Given the description of an element on the screen output the (x, y) to click on. 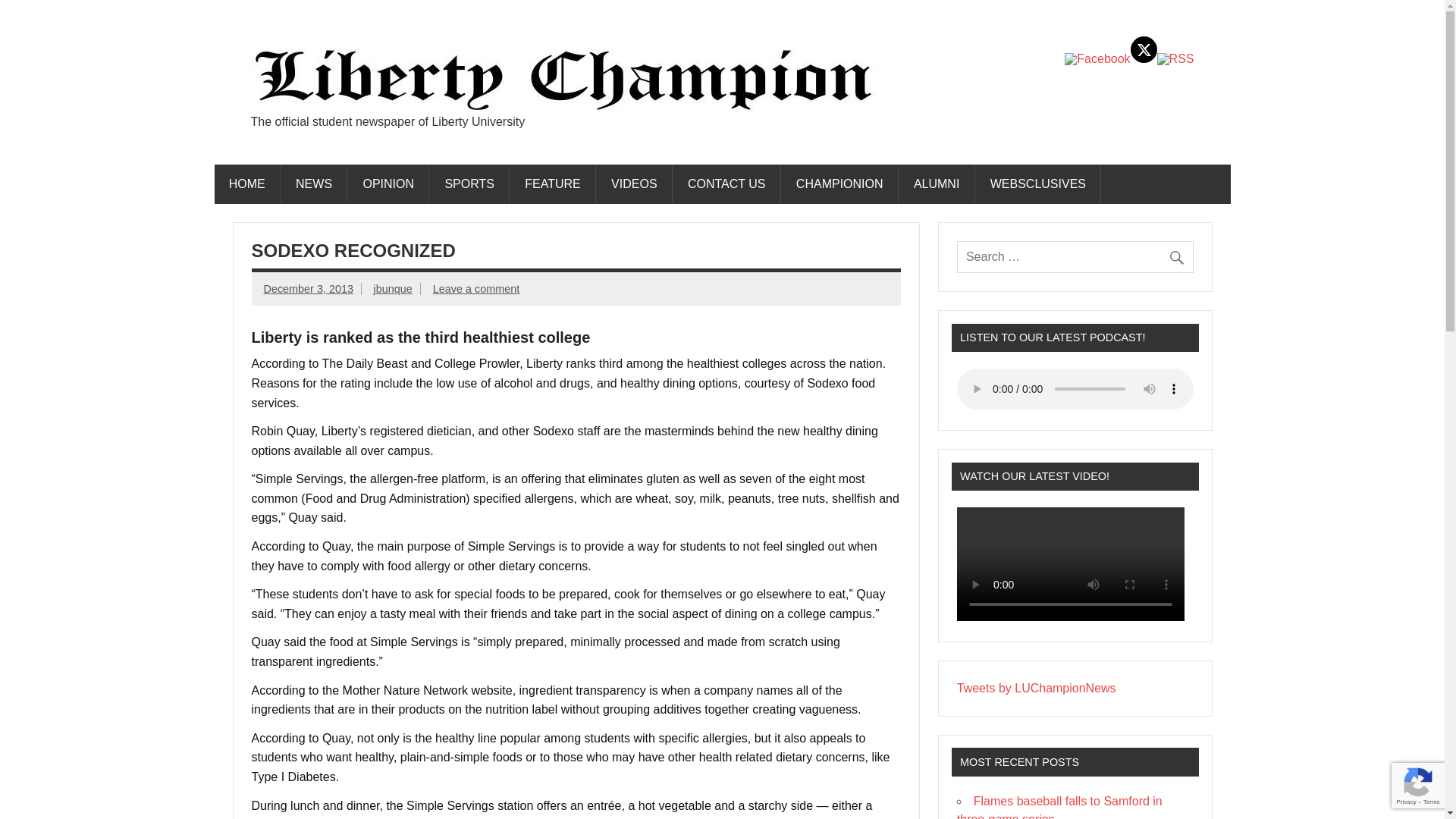
Flames baseball falls to Samford in three-game series (1058, 806)
3:02 pm (308, 288)
SPORTS (469, 183)
View all posts by jbunque (392, 288)
Twitter (1144, 49)
CHAMPIONION (839, 183)
Leave a comment (475, 288)
NEWS (314, 183)
Tweets by LUChampionNews (1036, 687)
VIDEOS (634, 183)
CONTACT US (726, 183)
OPINION (388, 183)
WEBSCLUSIVES (1038, 183)
HOME (246, 183)
FEATURE (553, 183)
